Given the description of an element on the screen output the (x, y) to click on. 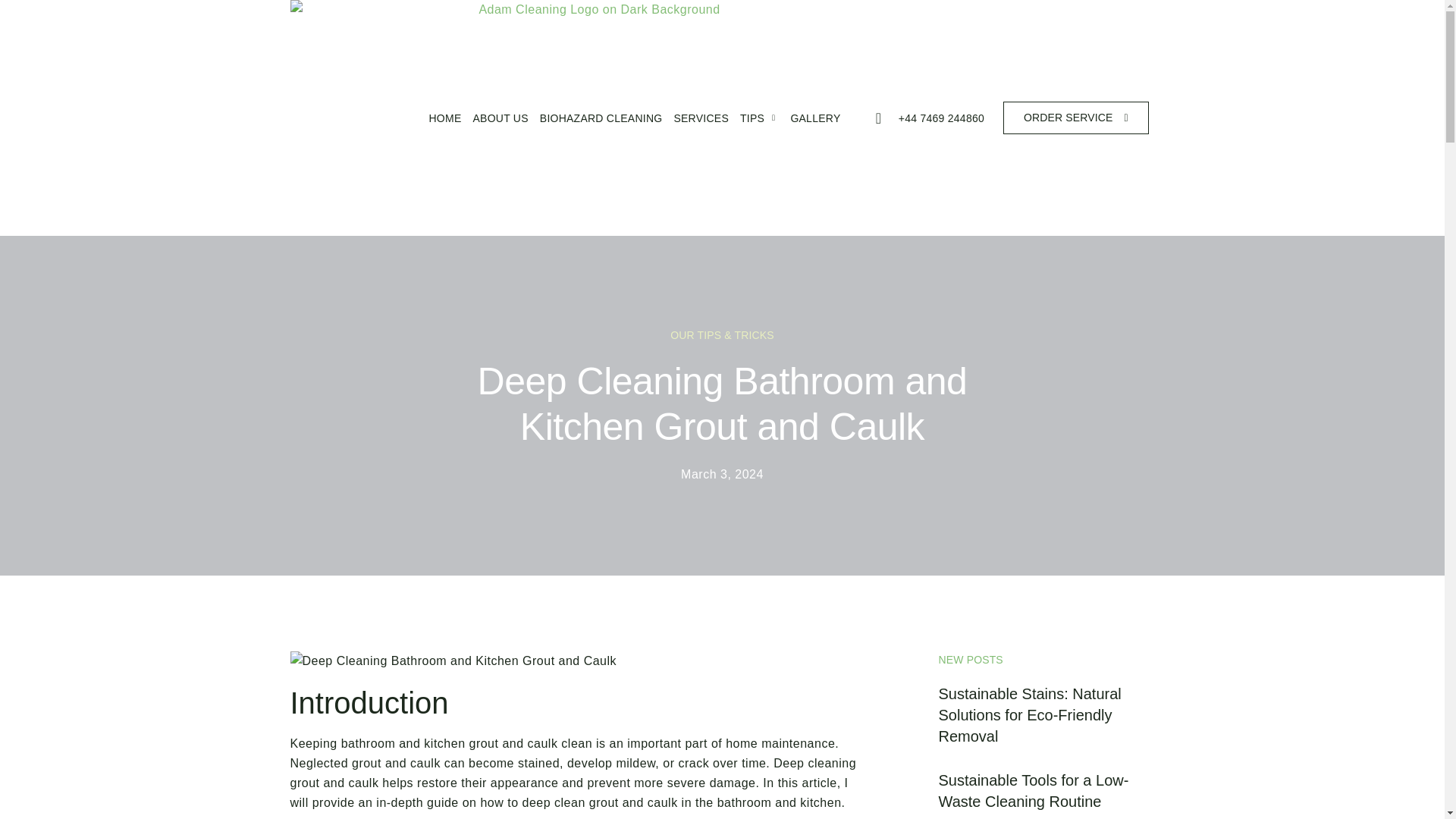
Deep Cleaning Bathroom and Kitchen Grout and Caulk (452, 660)
ORDER SERVICE (1075, 117)
GALLERY (809, 115)
SERVICES (695, 107)
BIOHAZARD CLEANING (595, 106)
ABOUT US (494, 105)
